Given the description of an element on the screen output the (x, y) to click on. 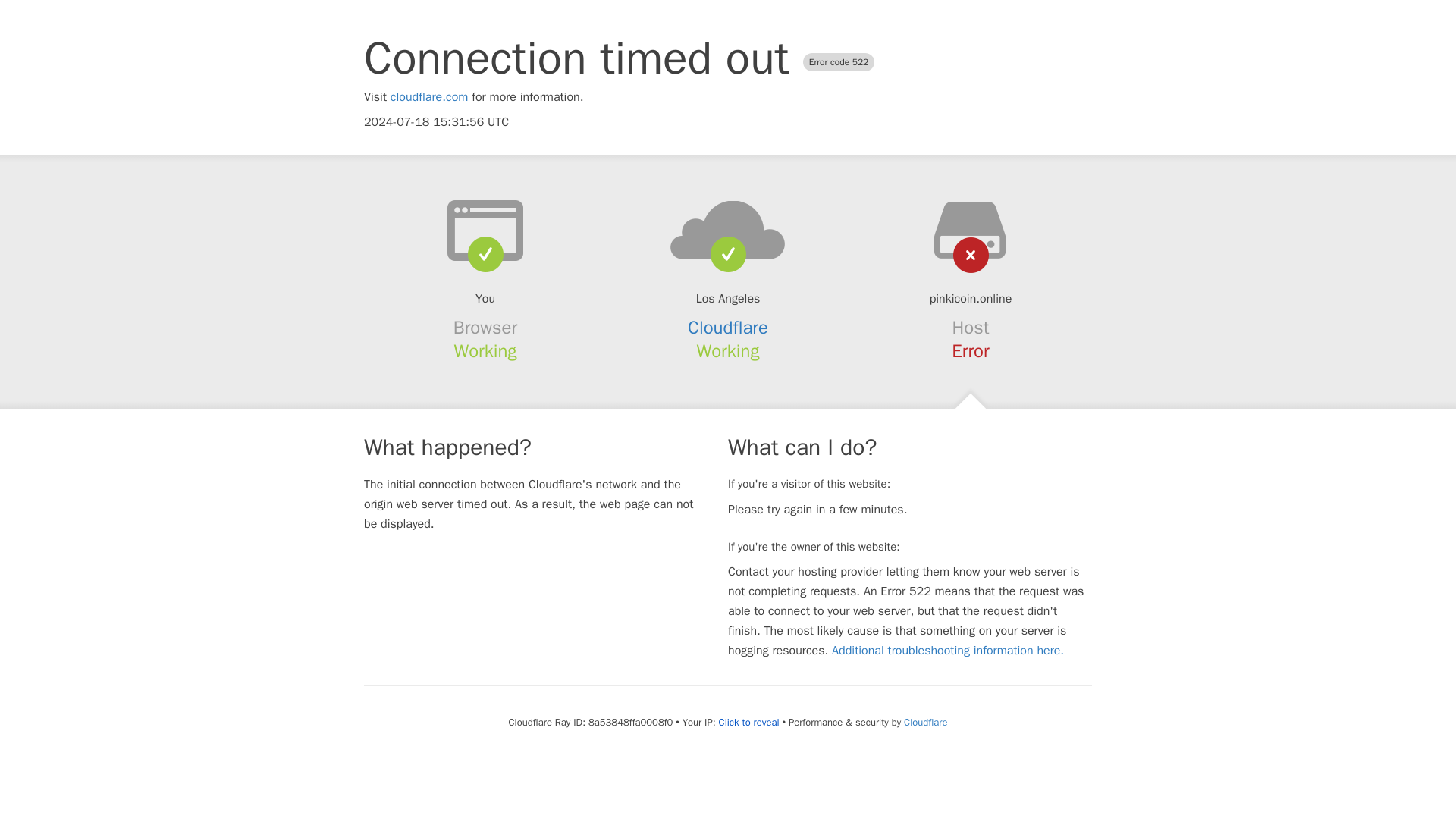
cloudflare.com (429, 96)
Additional troubleshooting information here. (947, 650)
Click to reveal (748, 722)
Cloudflare (925, 721)
Cloudflare (727, 327)
